Given the description of an element on the screen output the (x, y) to click on. 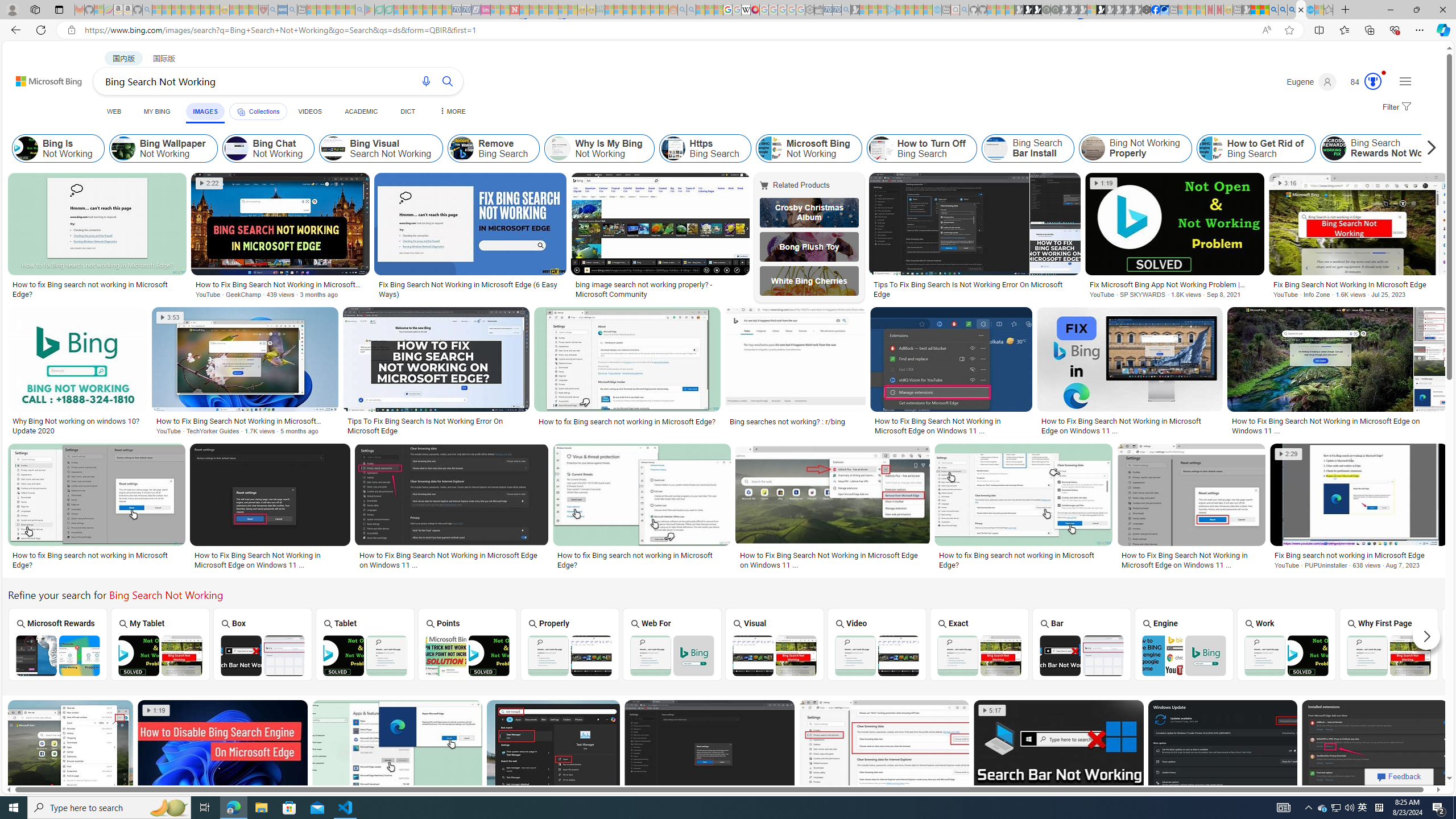
Search using voice (426, 80)
Why First Page of Bing Search Not Working Why First Page (1388, 643)
AirNow.gov (1163, 9)
WEB (114, 111)
Bing searches not working? : r/bing (786, 421)
